Given the description of an element on the screen output the (x, y) to click on. 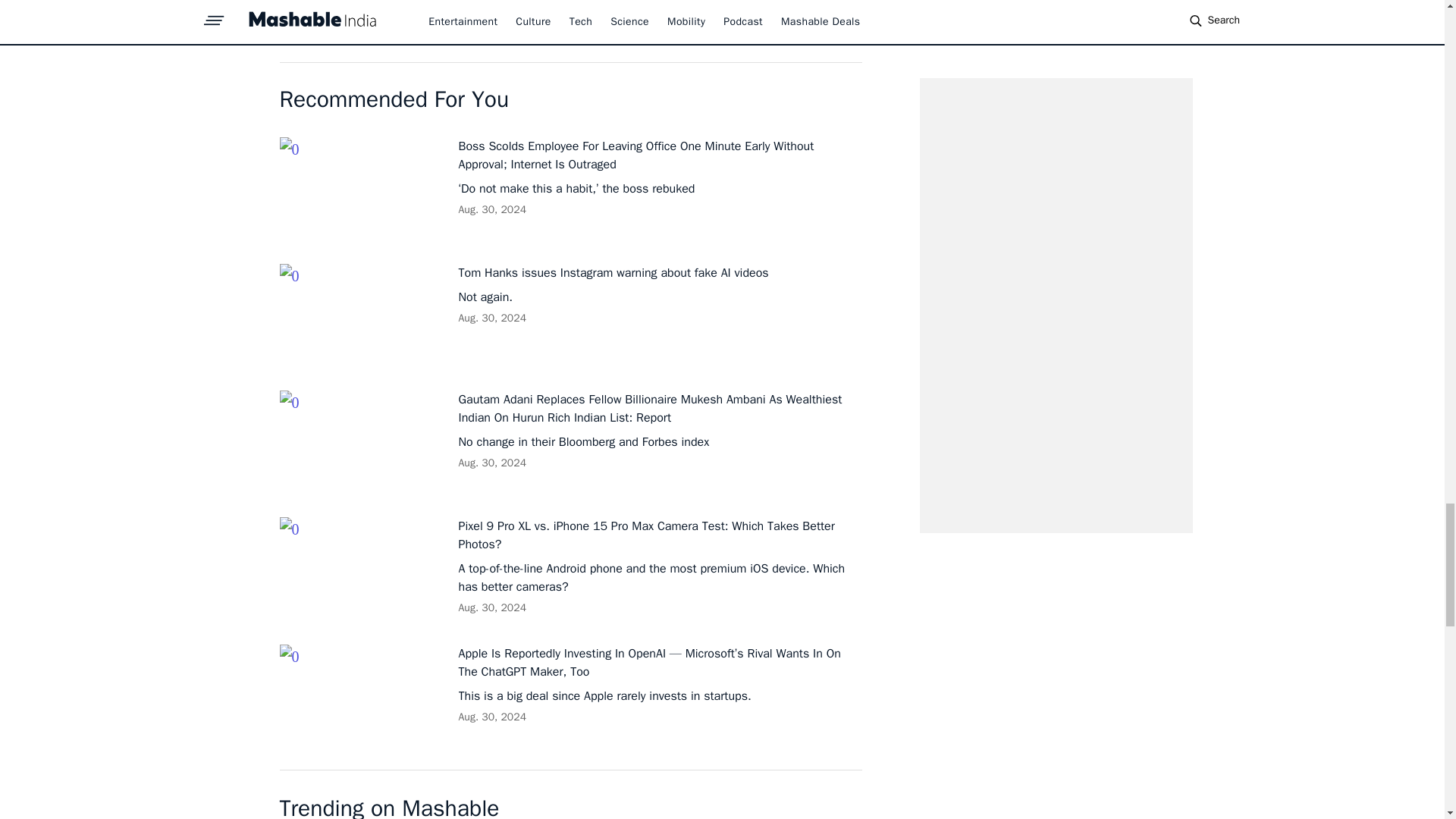
CES (523, 25)
Delta (484, 25)
Displays (624, 25)
airports (567, 25)
Tech (350, 25)
Transportation (416, 25)
